Given the description of an element on the screen output the (x, y) to click on. 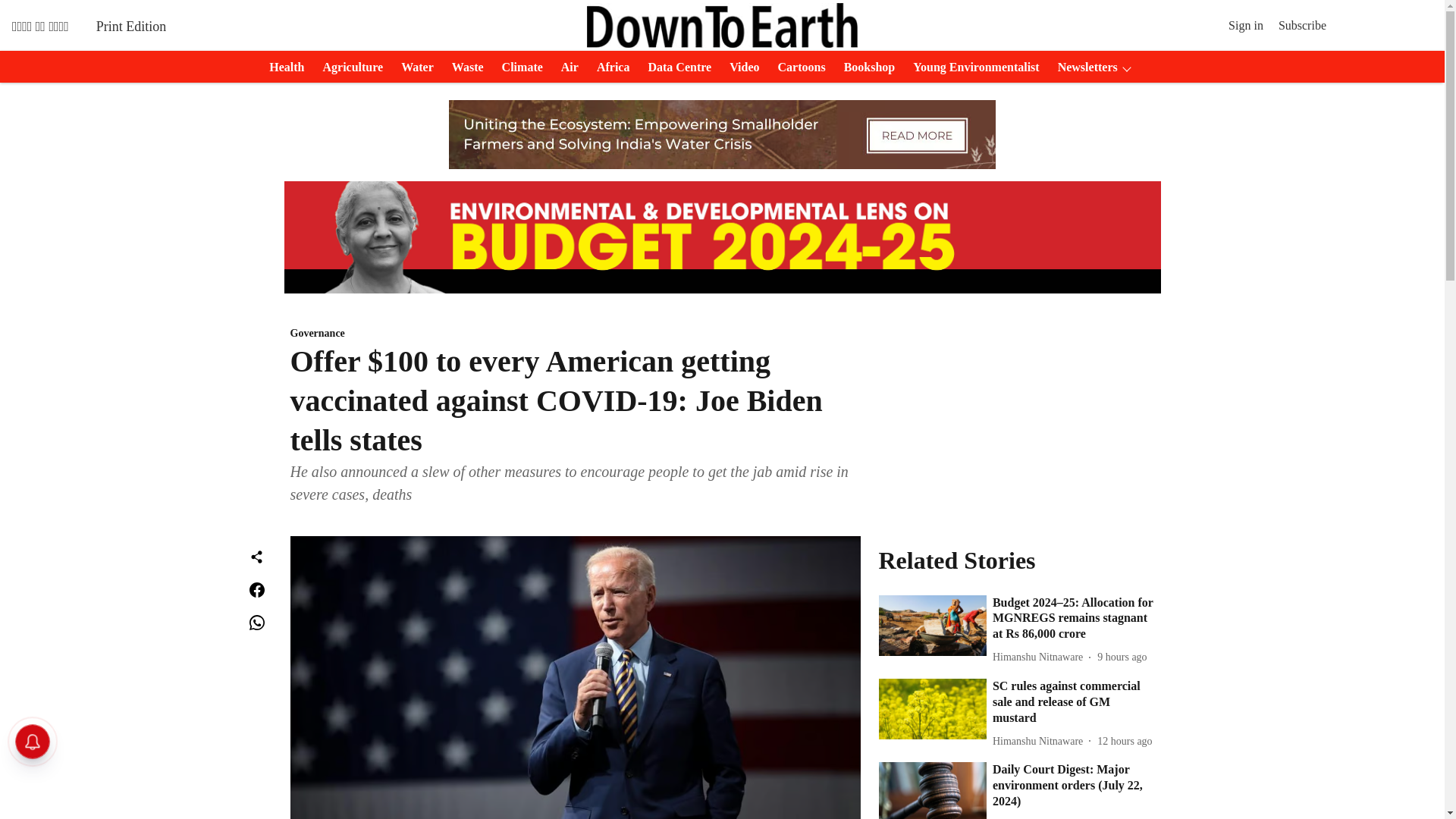
Agriculture (347, 67)
2024-07-23 09:50 (1078, 817)
Print Edition (131, 26)
Climate (518, 67)
Bookshop (864, 67)
2024-07-23 14:27 (1122, 657)
Video (739, 67)
2024-07-23 11:53 (1124, 741)
Cartoons (796, 67)
Governance (574, 333)
Water (412, 67)
Young Environmentalist (971, 67)
Health (282, 67)
Waste (462, 67)
Data Centre (675, 67)
